Given the description of an element on the screen output the (x, y) to click on. 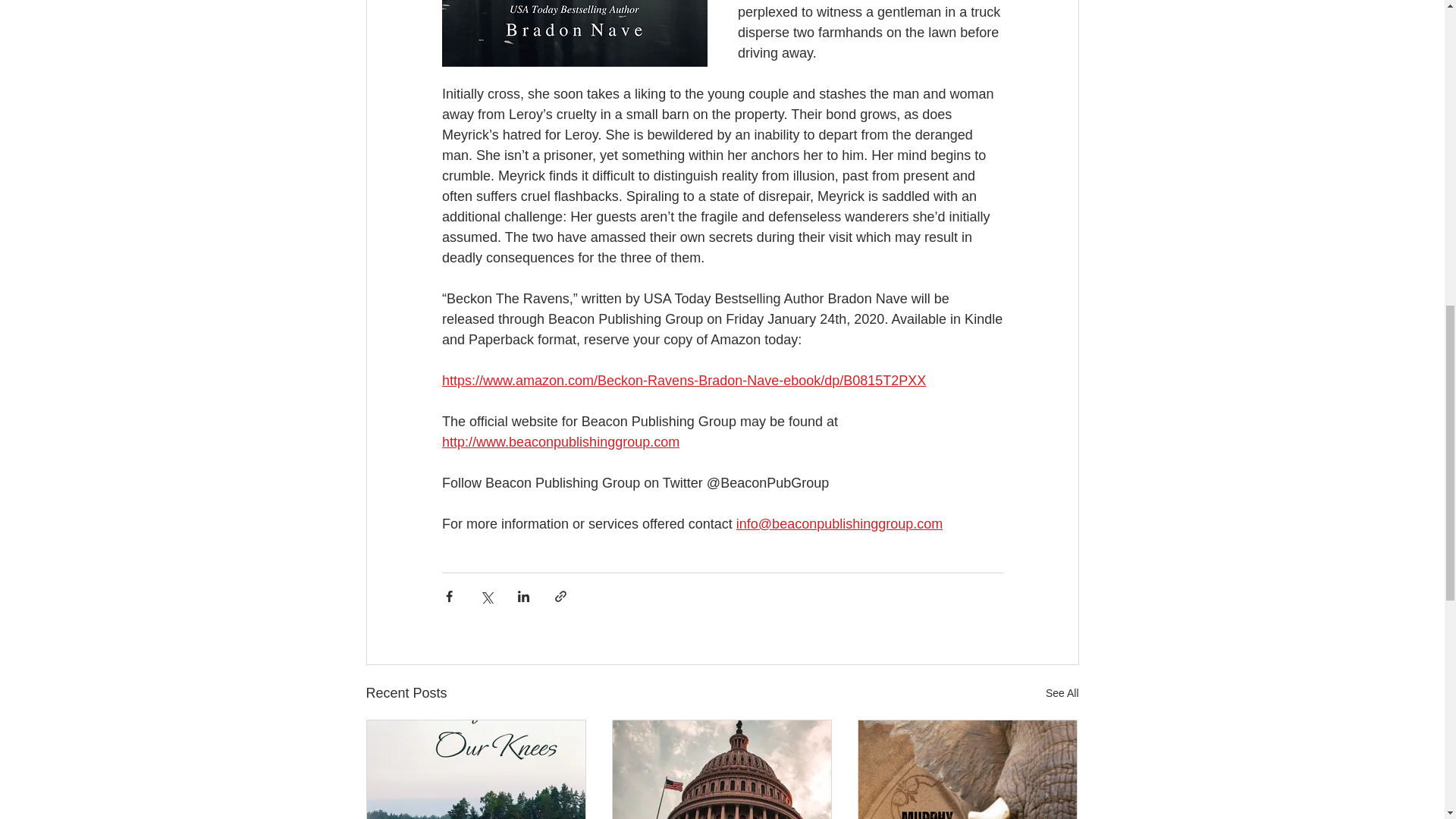
See All (1061, 693)
